Given the description of an element on the screen output the (x, y) to click on. 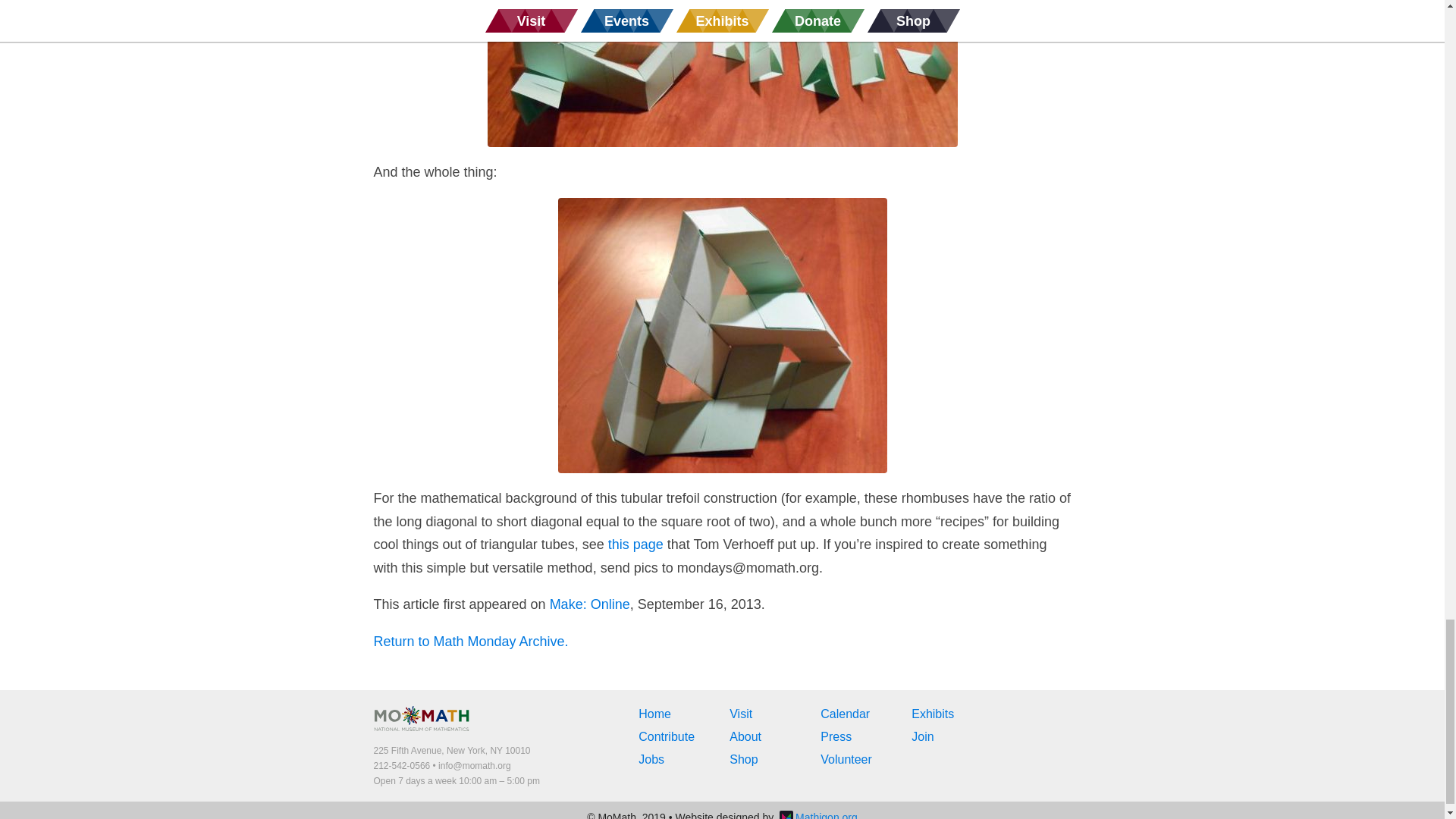
Press (836, 736)
About (745, 736)
Contribute (666, 736)
Shop (743, 758)
Make: Online (590, 604)
Return to Math Monday Archive. (469, 641)
Exhibits (932, 713)
Join (922, 736)
Jobs (651, 758)
Volunteer (846, 758)
this page (635, 544)
Visit (740, 713)
Calendar (845, 713)
Home (655, 713)
